Given the description of an element on the screen output the (x, y) to click on. 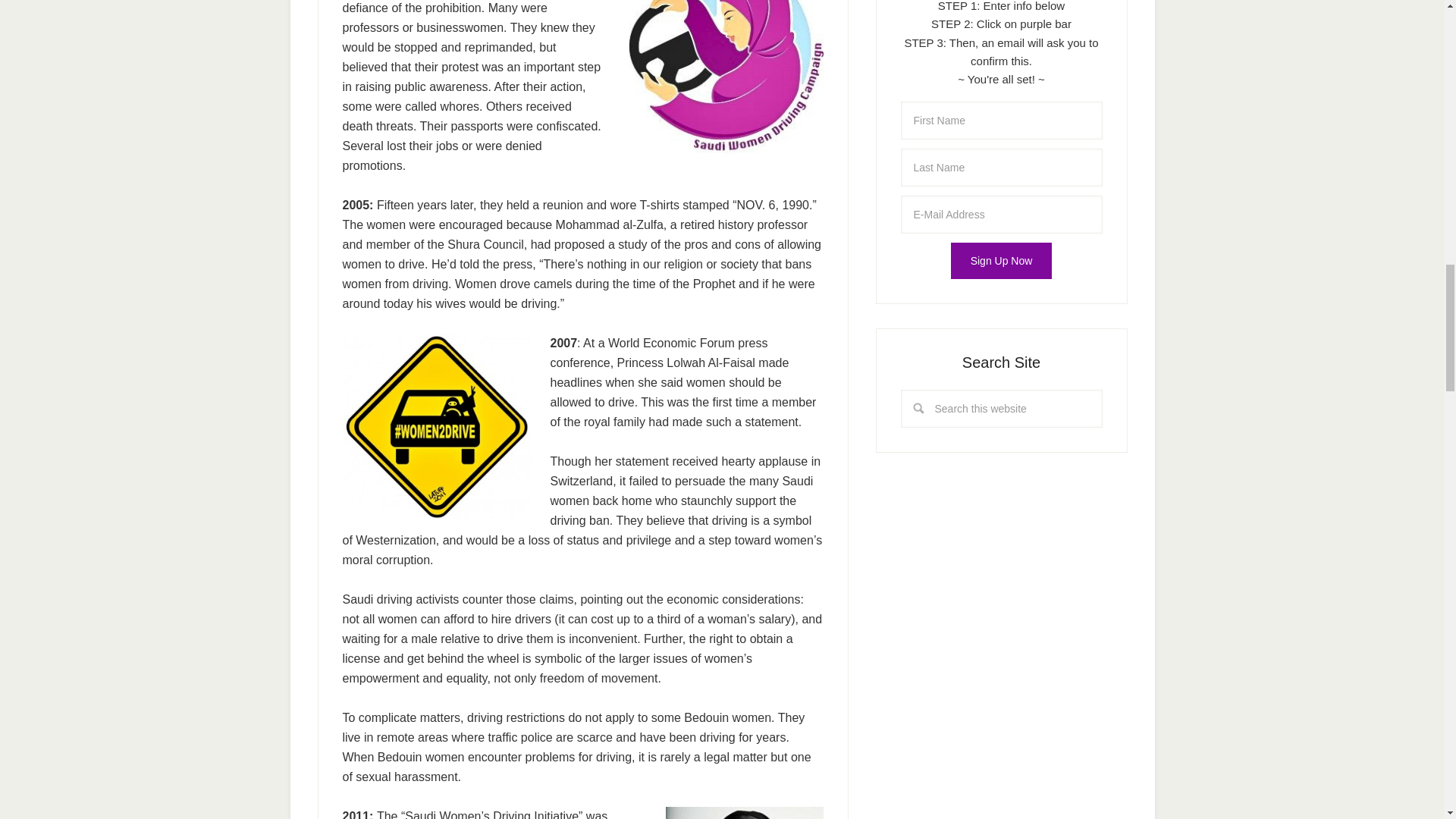
Sign Up Now (1000, 260)
Sign Up Now (1000, 260)
